Given the description of an element on the screen output the (x, y) to click on. 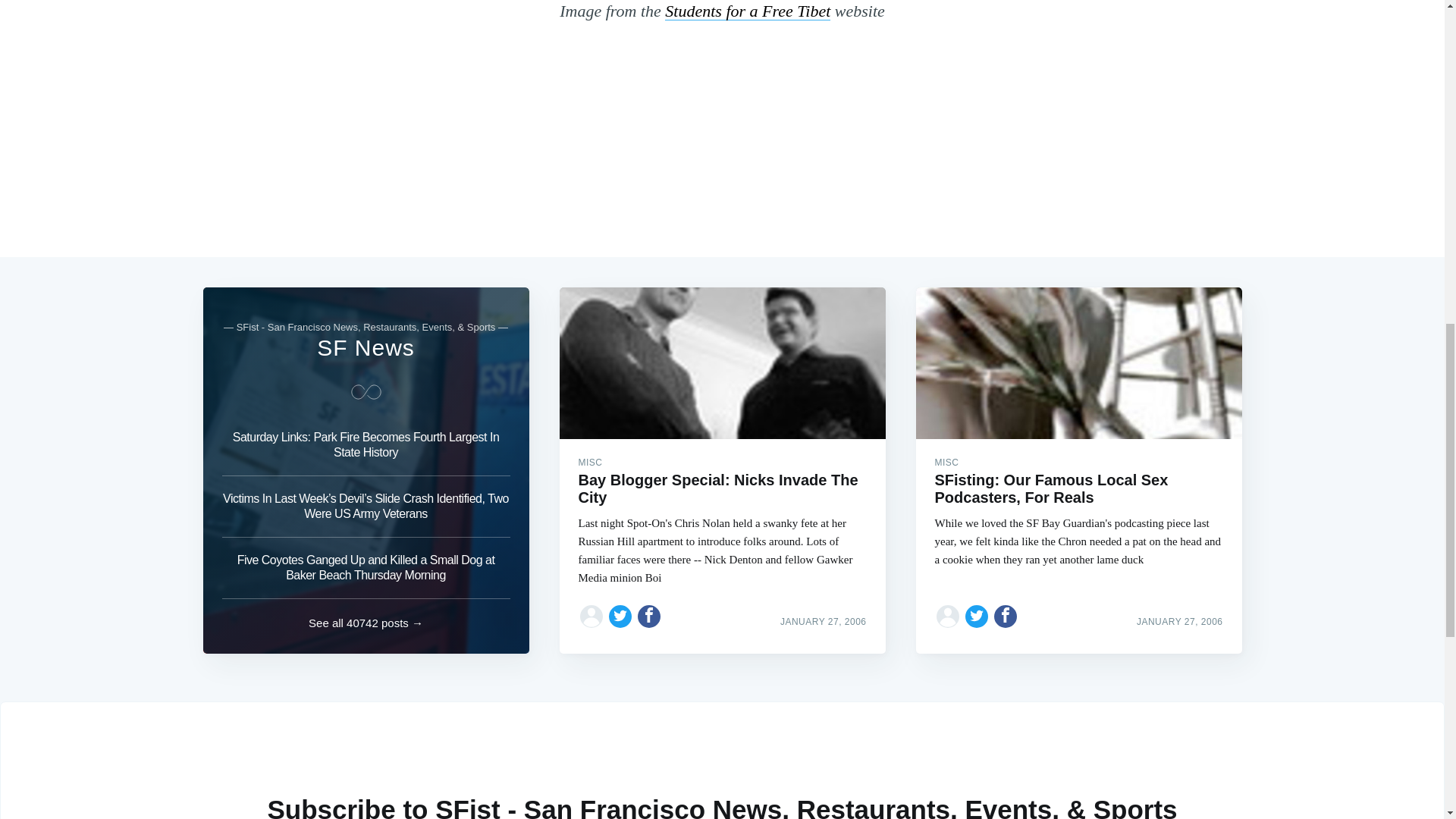
Share on Twitter (976, 616)
Share on Facebook (649, 616)
SF News (365, 347)
Share on Twitter (620, 616)
Students for a Free Tibet (747, 10)
Share on Facebook (1004, 616)
